Given the description of an element on the screen output the (x, y) to click on. 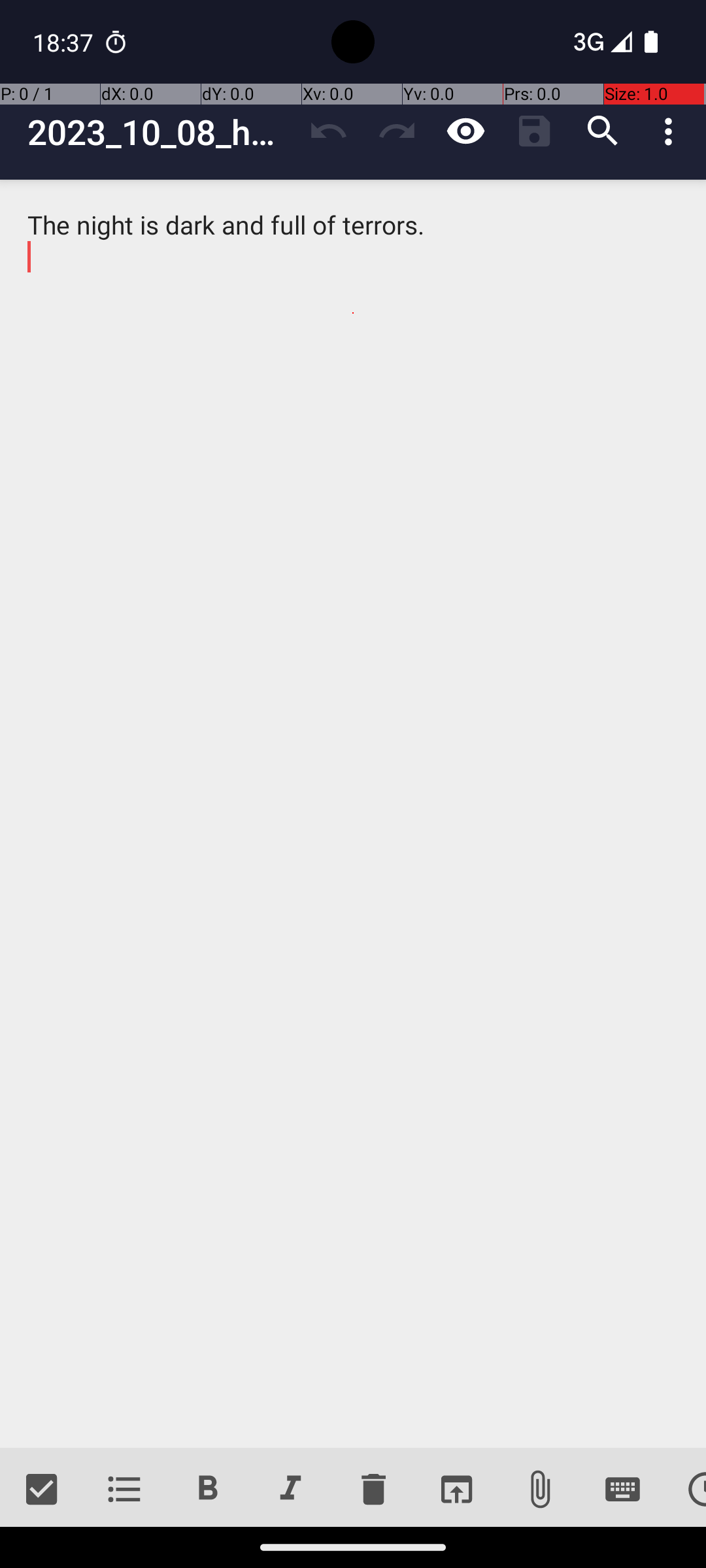
2023_10_08_hot_zebra Element type: android.widget.TextView (160, 131)
The night is dark and full of terrors.
 Element type: android.widget.EditText (353, 813)
18:37 Element type: android.widget.TextView (64, 41)
